Given the description of an element on the screen output the (x, y) to click on. 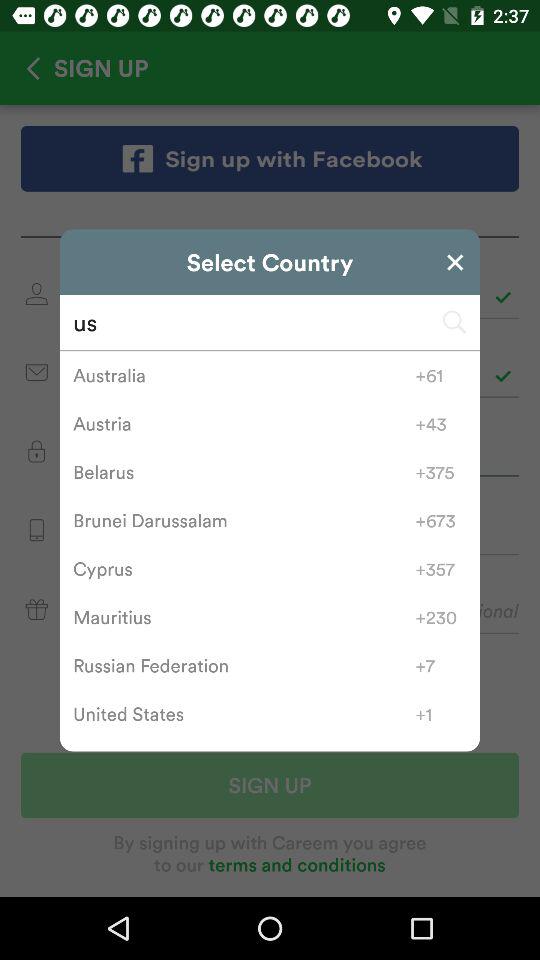
jump until the austria (244, 423)
